Given the description of an element on the screen output the (x, y) to click on. 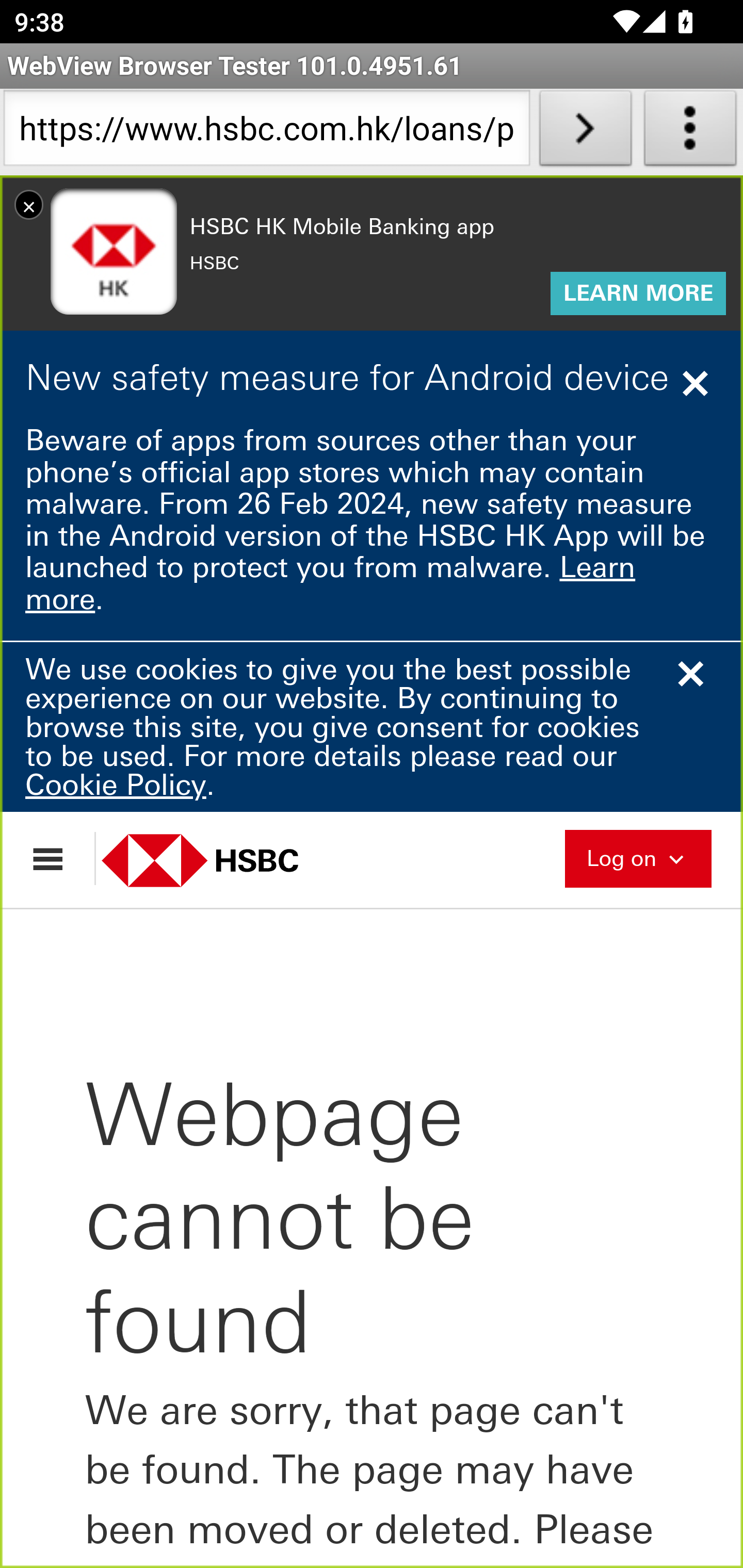
Load URL (585, 132)
About WebView (690, 132)
